Given the description of an element on the screen output the (x, y) to click on. 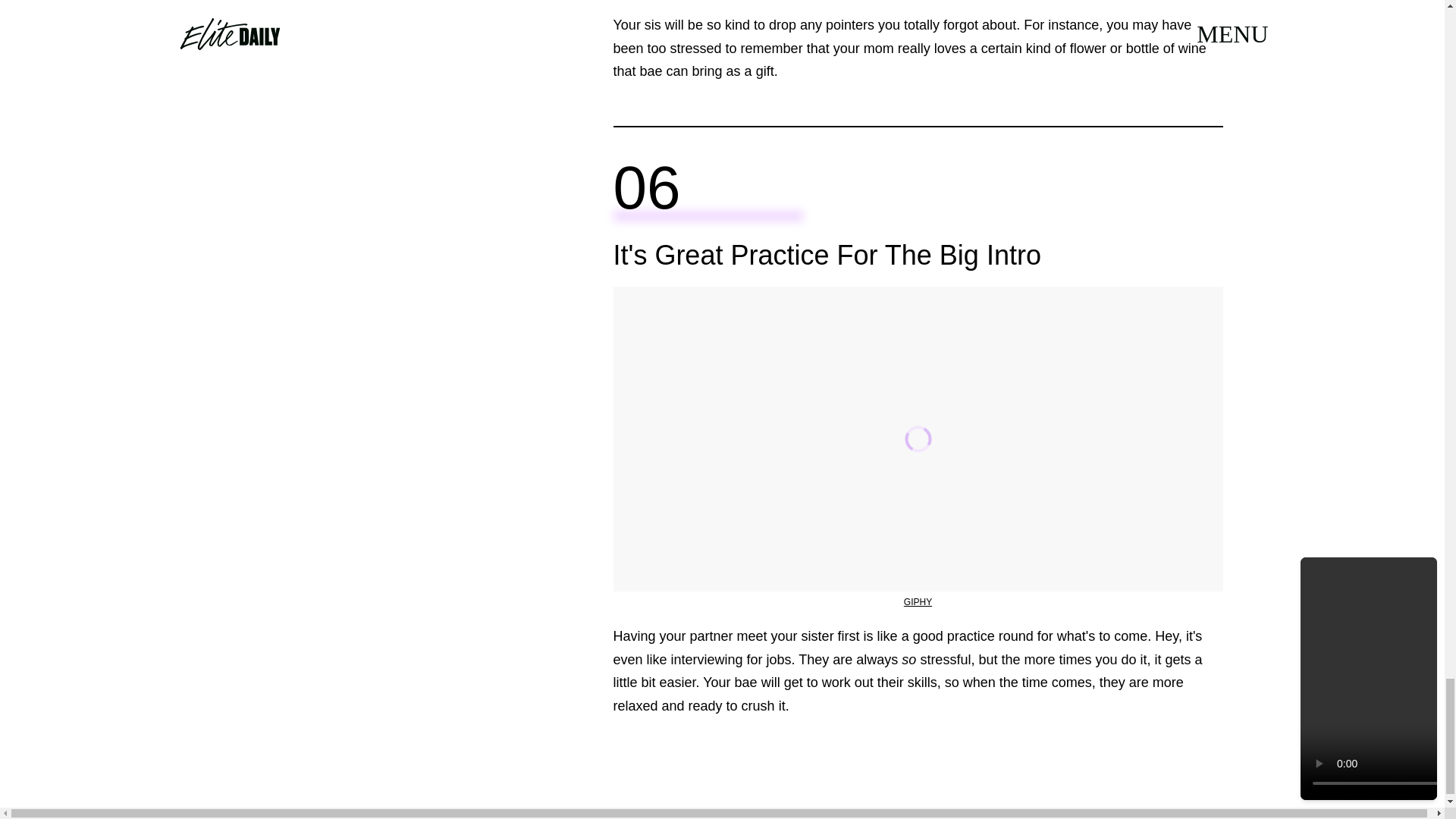
GIPHY (917, 602)
